Given the description of an element on the screen output the (x, y) to click on. 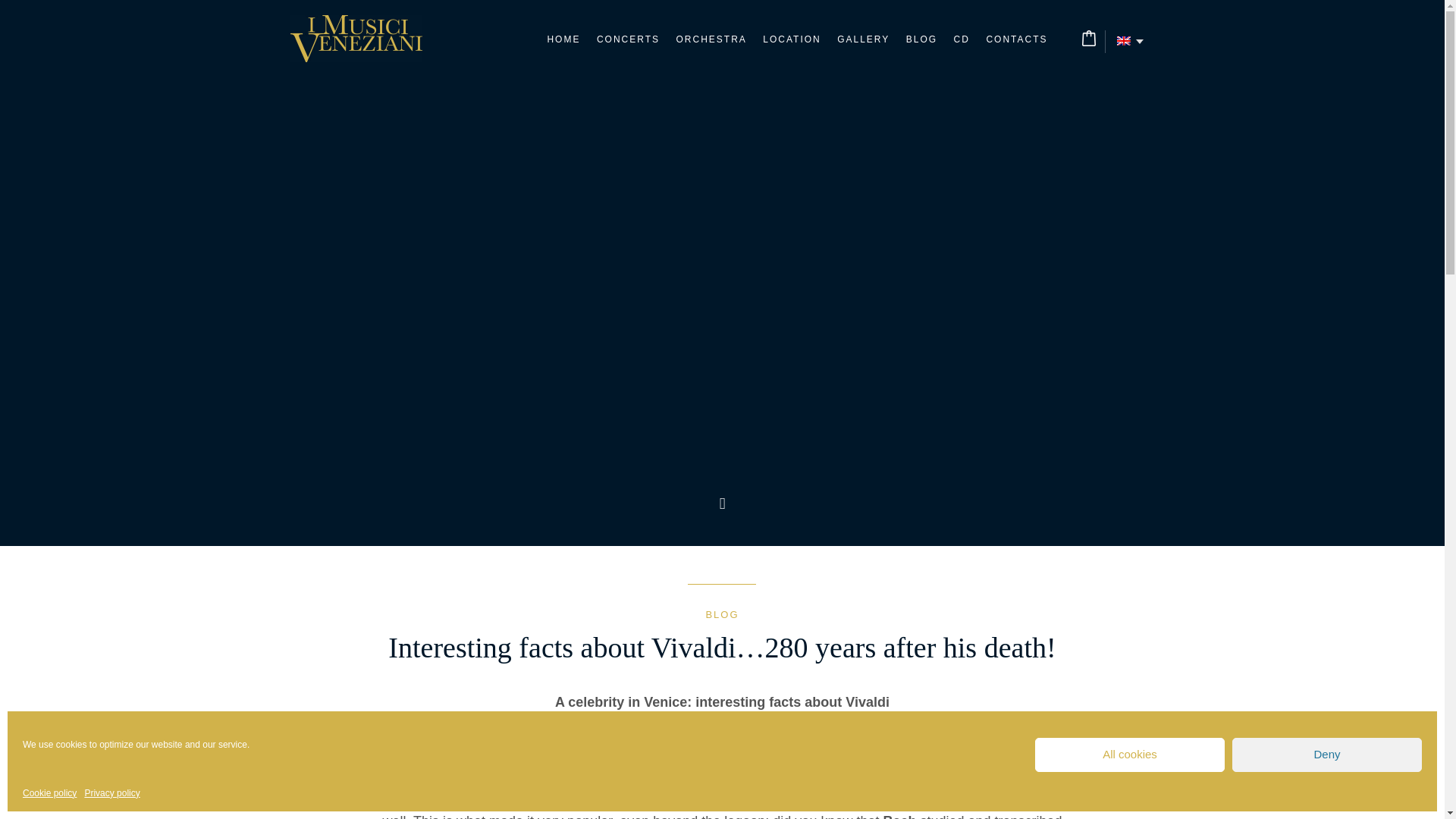
I Musici Veneziani - Orchestra in costume del XVIII secolo (355, 38)
Contacts (1015, 39)
I Musici Veneziani - Orchestra in costume del XVIII secolo (355, 38)
All cookies (1129, 754)
CONTACTS (1015, 39)
Cd (961, 39)
Blog (921, 39)
Orchestra (710, 39)
BLOG (721, 614)
CONCERTS (627, 39)
Privacy policy (111, 793)
ORCHESTRA (710, 39)
Gallery (863, 39)
CD (961, 39)
GALLERY (863, 39)
